Given the description of an element on the screen output the (x, y) to click on. 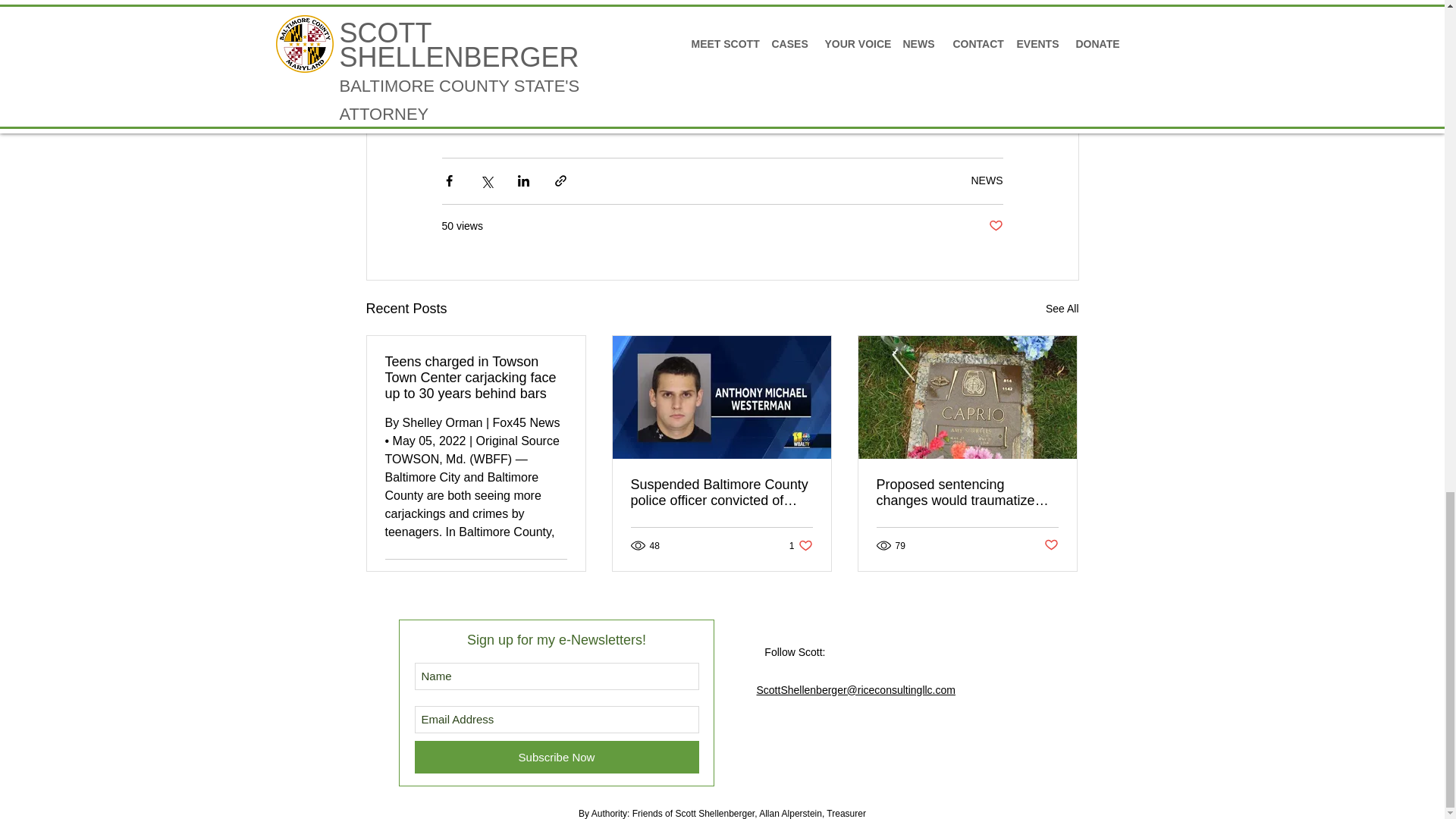
Post not marked as liked (558, 577)
See All (1061, 309)
Post not marked as liked (1050, 545)
Post not marked as liked (800, 545)
NEWS (995, 226)
Subscribe Now (987, 180)
